Given the description of an element on the screen output the (x, y) to click on. 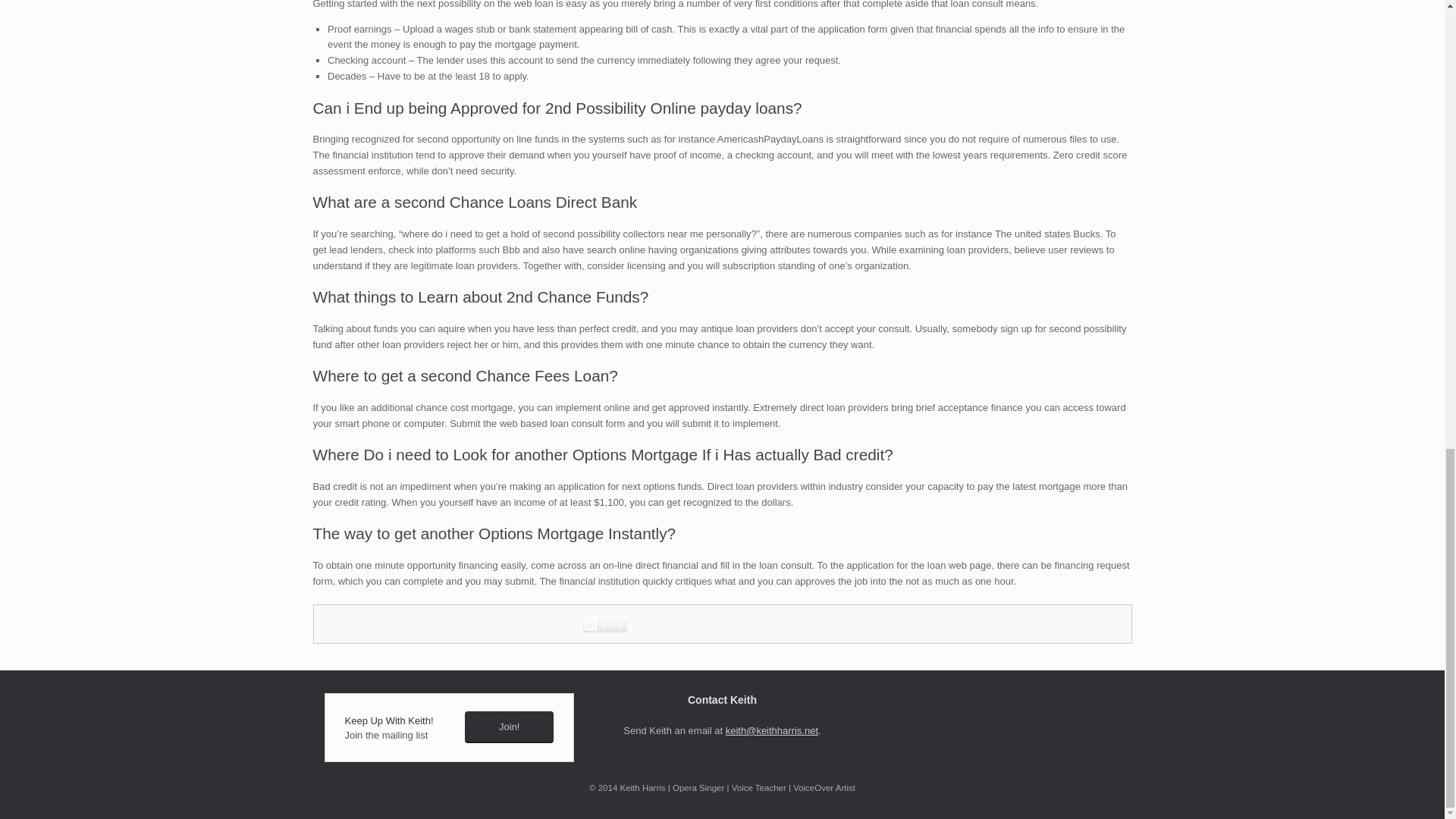
Share (604, 623)
Send an email to Keith (771, 730)
Join! (508, 727)
